Given the description of an element on the screen output the (x, y) to click on. 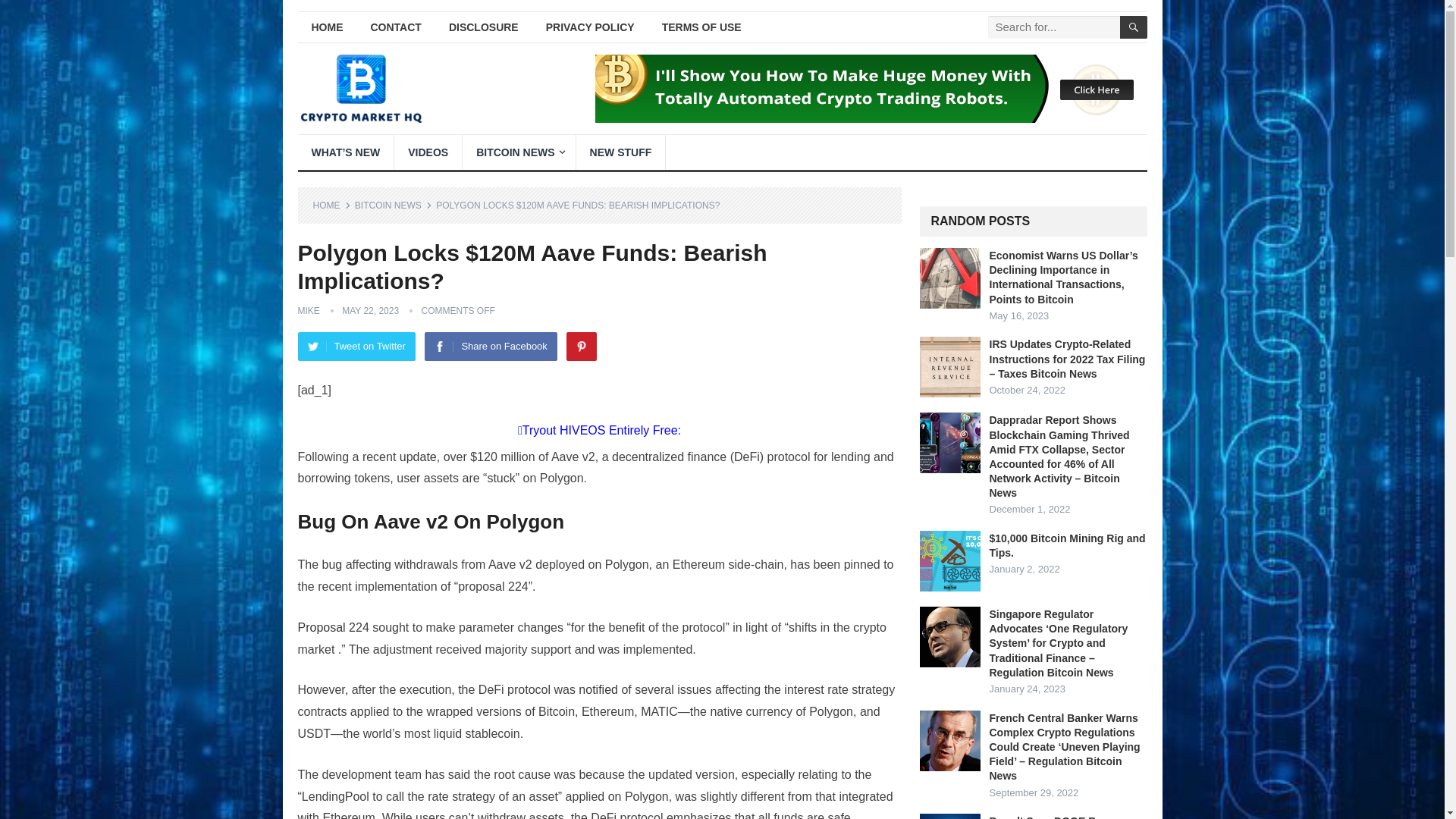
HOME (331, 204)
Proposal 224 (332, 626)
HOME (326, 27)
View all posts in Bitcoin News (393, 204)
Share on Facebook (490, 346)
update (417, 456)
CONTACT (394, 27)
Posts by Mike (307, 310)
VIDEOS (427, 152)
DISCLOSURE (483, 27)
TERMS OF USE (701, 27)
NEW STUFF (620, 152)
Tweet on Twitter (355, 346)
BITCOIN NEWS (393, 204)
